Given the description of an element on the screen output the (x, y) to click on. 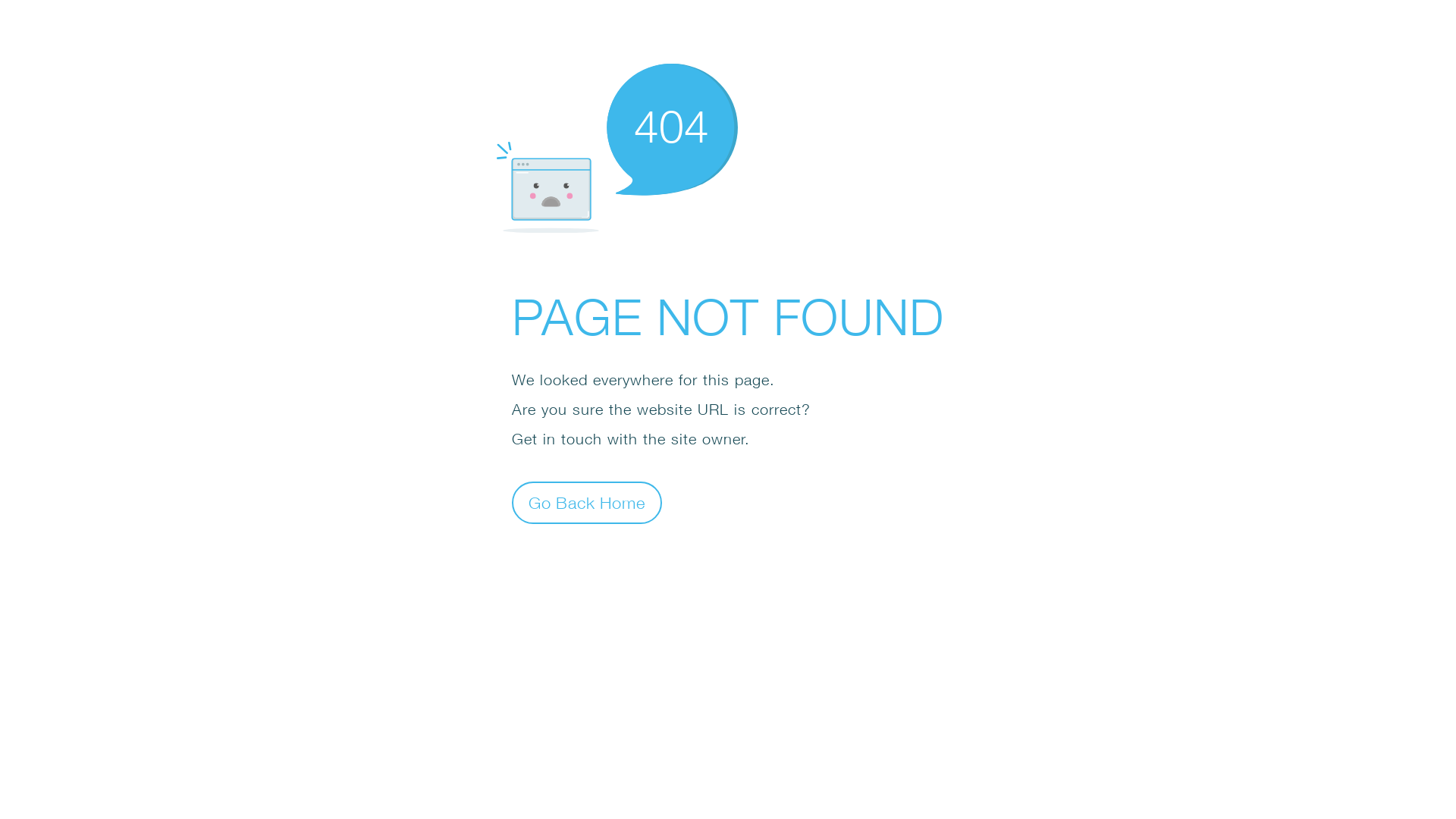
Go Back Home Element type: text (586, 502)
